Given the description of an element on the screen output the (x, y) to click on. 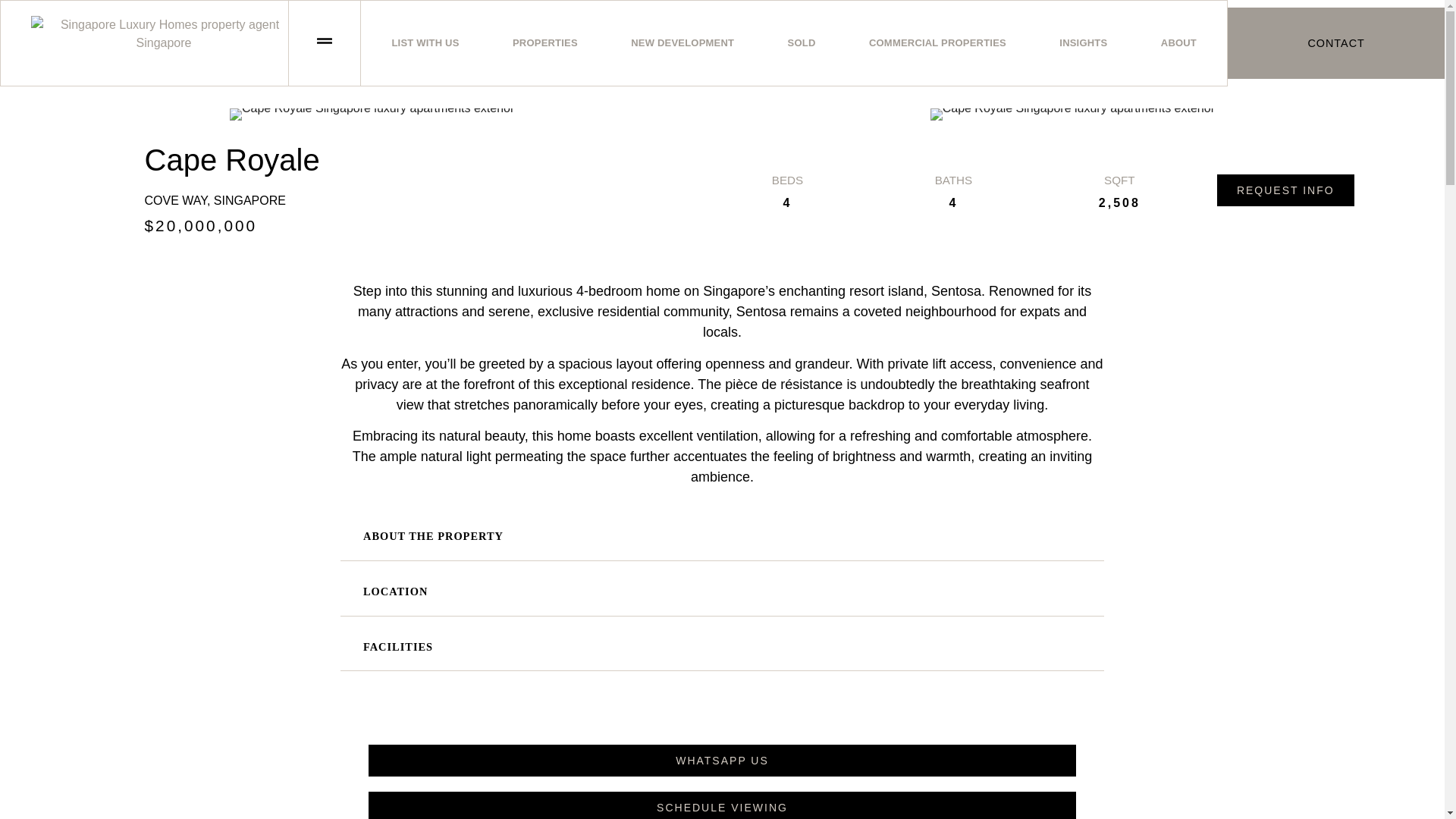
COMMERCIAL PROPERTIES (937, 42)
ABOUT THE PROPERTY (721, 537)
ABOUT (1179, 42)
LOCATION (721, 592)
WHATSAPP US (721, 760)
INSIGHTS (1082, 42)
REQUEST INFO (1285, 190)
NEW DEVELOPMENT (682, 42)
SCHEDULE VIEWING (721, 805)
PROPERTIES (544, 42)
